Given the description of an element on the screen output the (x, y) to click on. 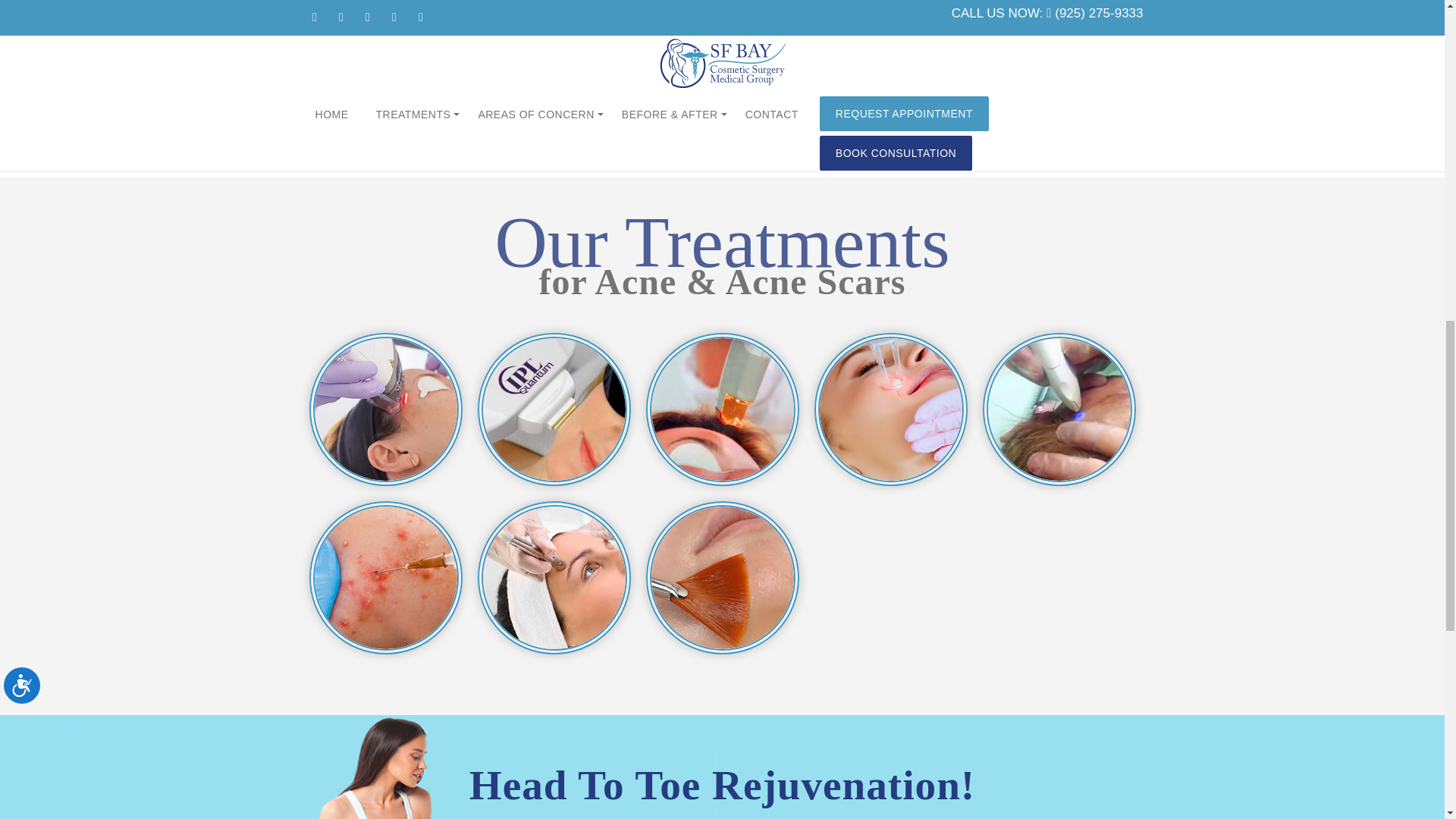
SFBC-SideContact (1010, 32)
